Given the description of an element on the screen output the (x, y) to click on. 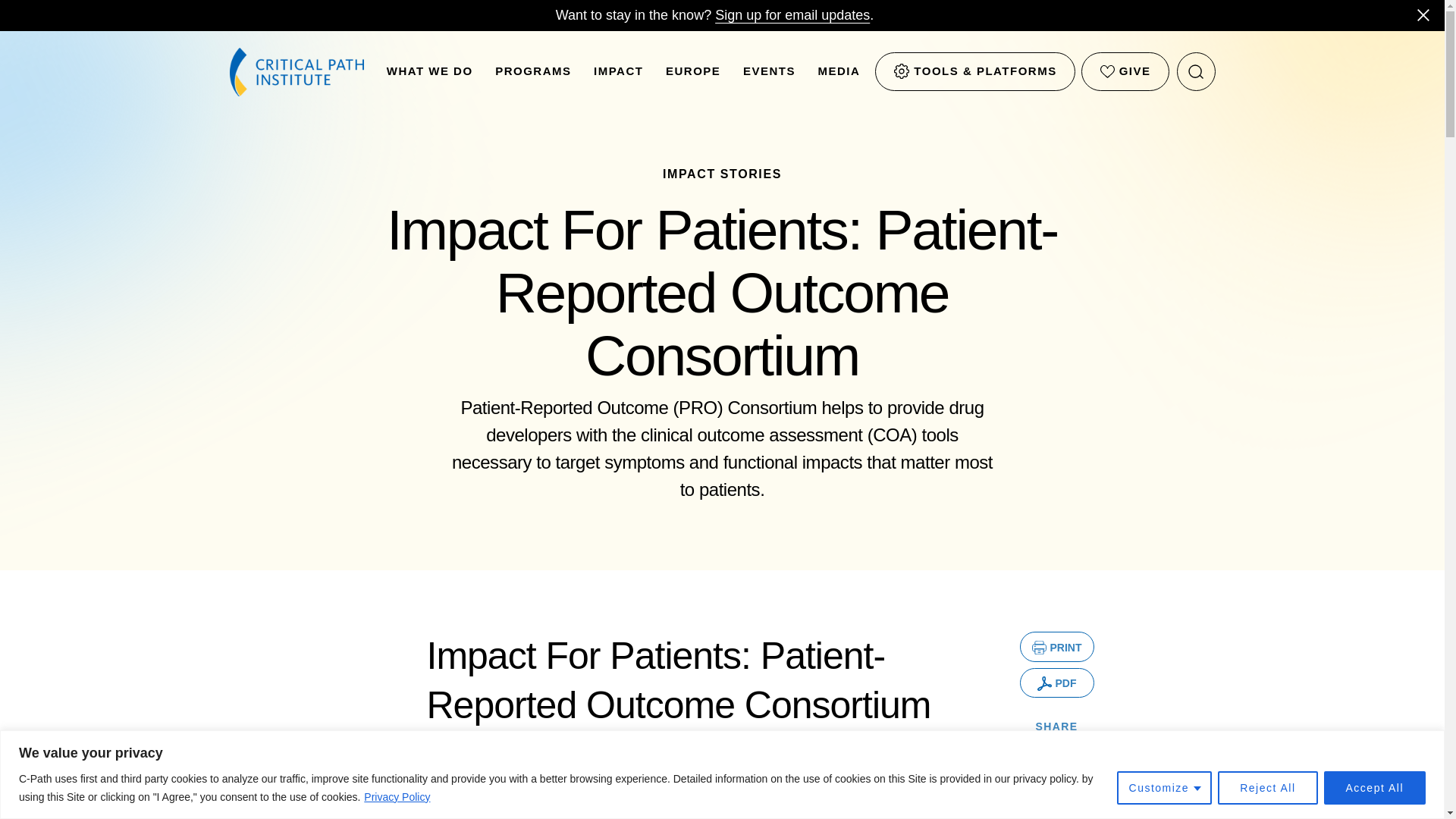
GIVE (1125, 71)
Sign up for email updates (791, 14)
WHAT WE DO (430, 75)
PROGRAMS (532, 75)
Customize (1164, 786)
EVENTS (768, 75)
MEDIA (839, 75)
EUROPE (692, 75)
Reject All (1267, 786)
Privacy Policy (396, 796)
Accept All (1374, 786)
IMPACT (618, 75)
